Given the description of an element on the screen output the (x, y) to click on. 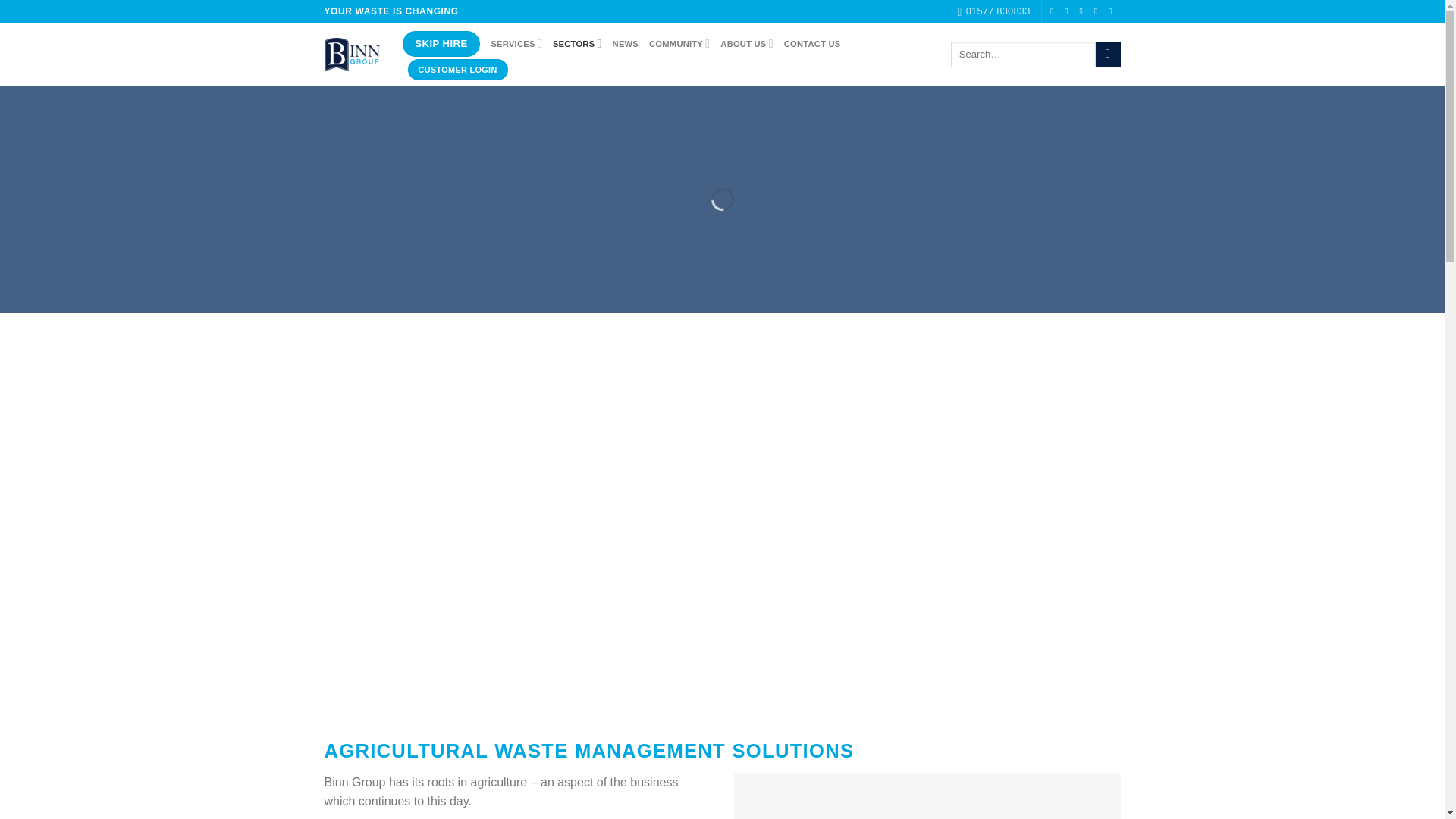
COMMUNITY (679, 43)
NEWS (625, 43)
ABOUT US (746, 43)
SERVICES (515, 43)
SKIP HIRE (440, 43)
SECTORS (577, 43)
01577 830833 (994, 11)
01577 830833 (994, 11)
